Given the description of an element on the screen output the (x, y) to click on. 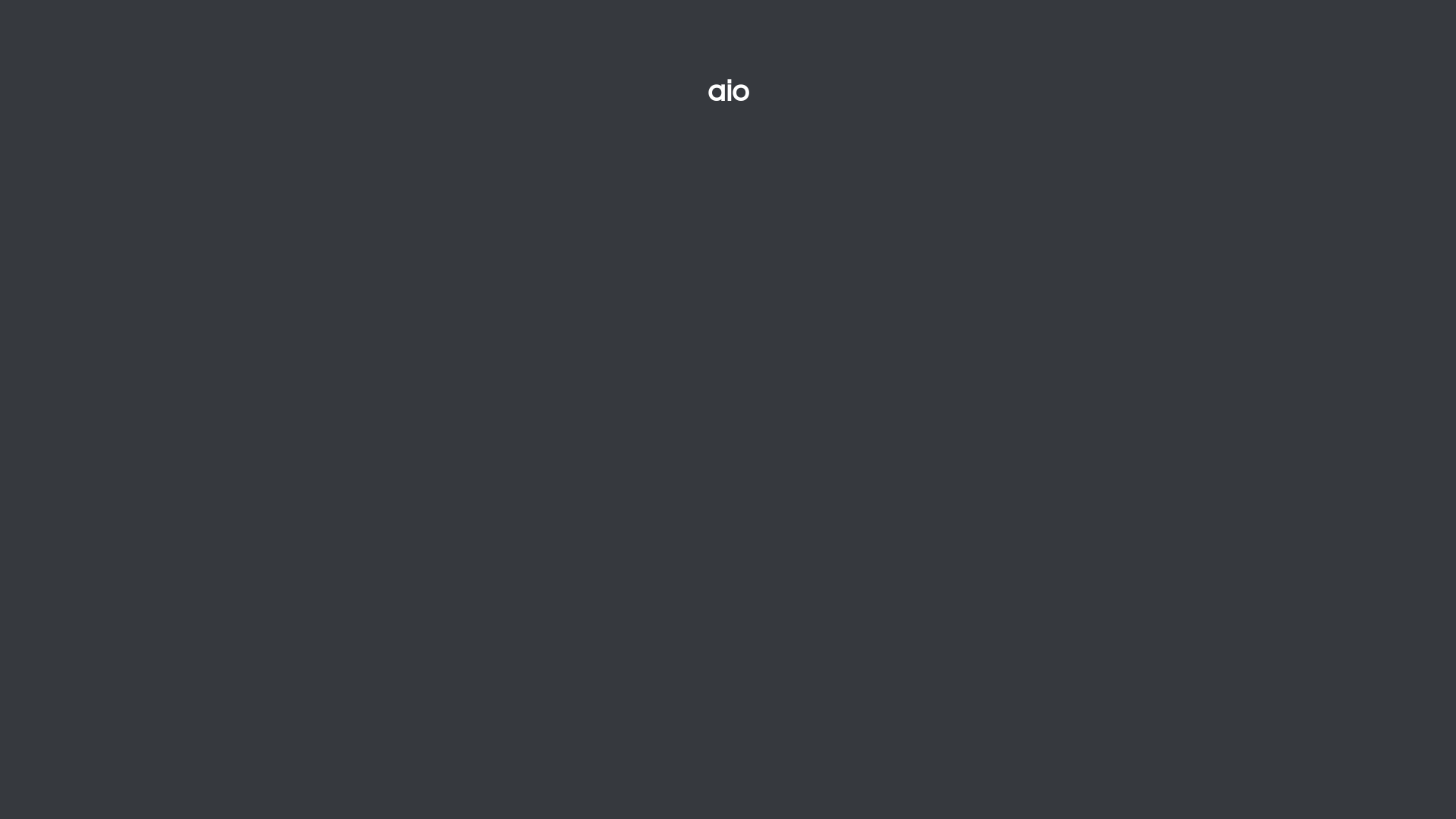
aio Element type: text (727, 91)
